Given the description of an element on the screen output the (x, y) to click on. 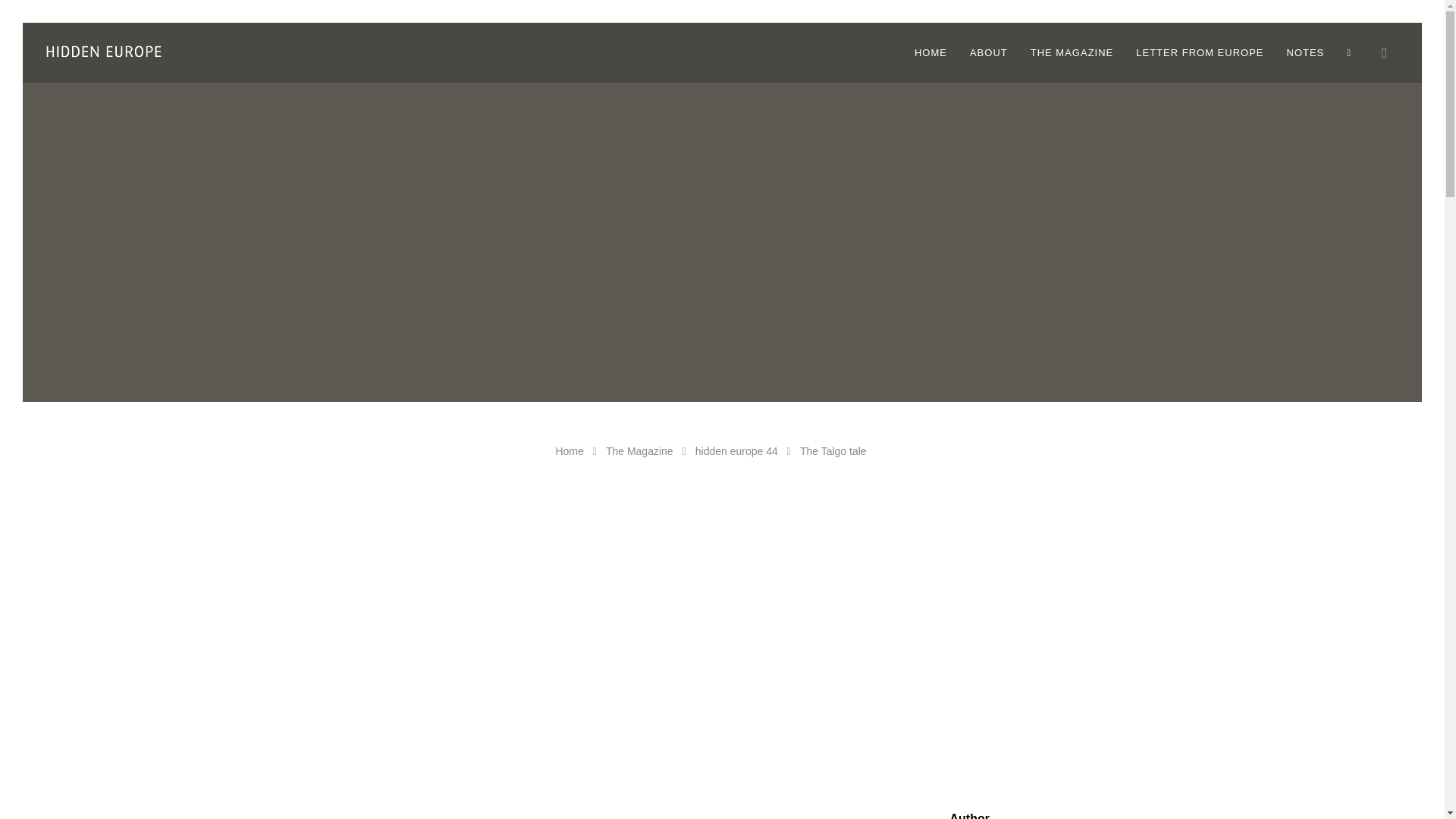
Home (568, 451)
LETTER FROM EUROPE (1199, 52)
THE MAGAZINE (1071, 52)
hidden europe 44 (736, 451)
SNIPPET (424, 818)
The Magazine (638, 451)
